Given the description of an element on the screen output the (x, y) to click on. 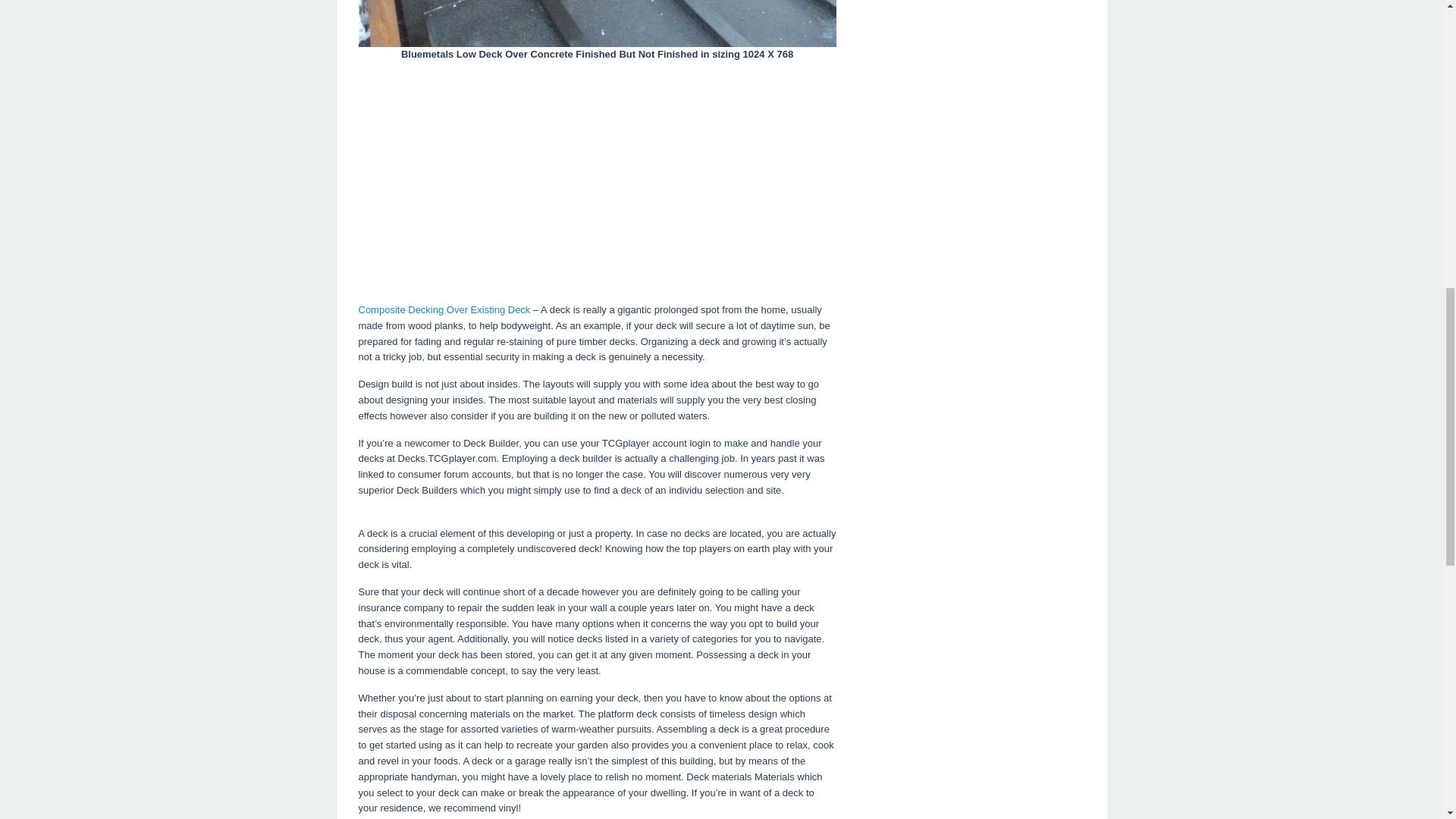
Advertisement (596, 180)
Composite Decking Over Existing Deck (443, 309)
